Given the description of an element on the screen output the (x, y) to click on. 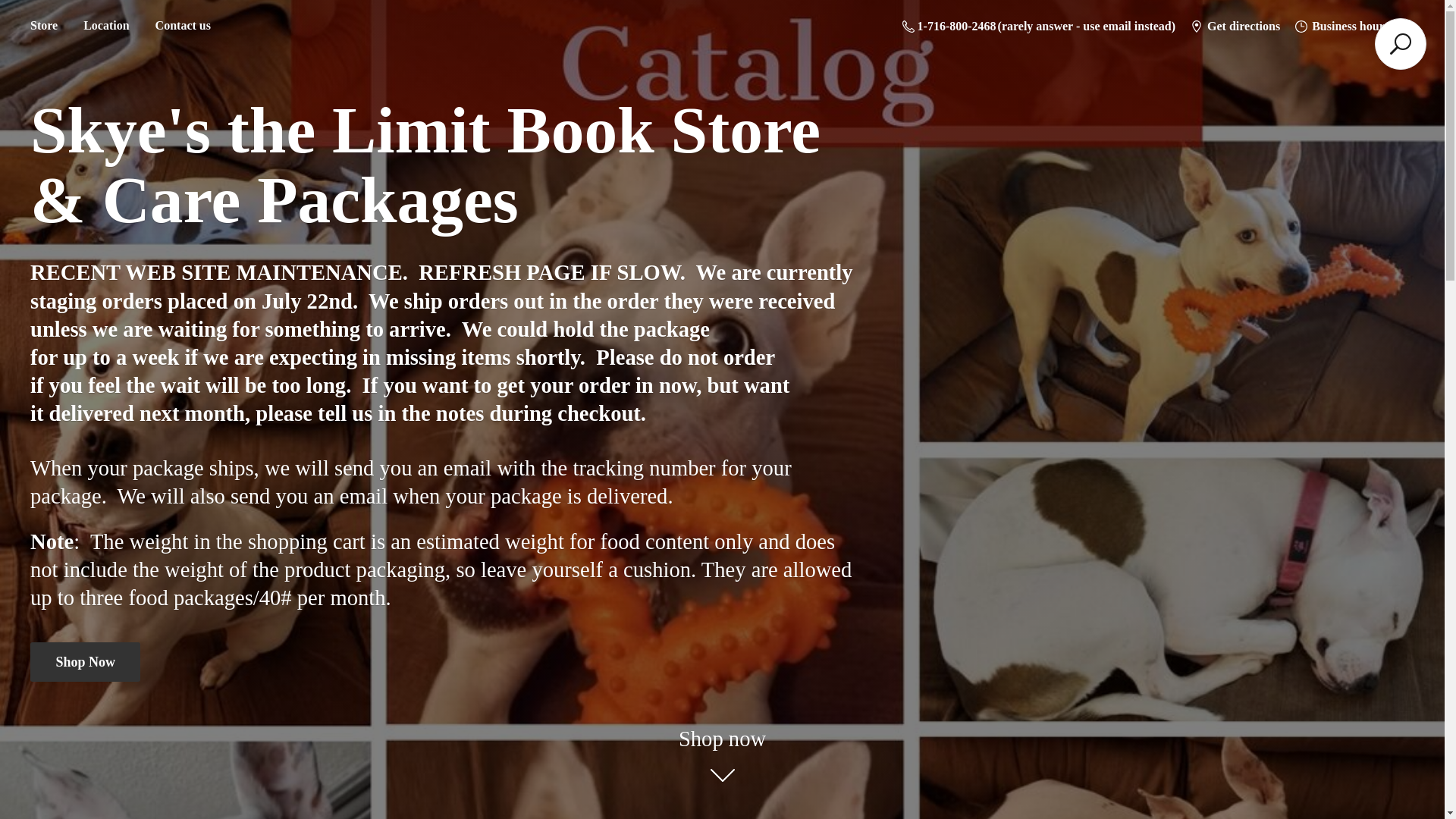
Contact us (183, 25)
Shop Now (84, 661)
Store (43, 25)
Location (105, 25)
Get directions (1234, 26)
Business hours (1341, 26)
